Given the description of an element on the screen output the (x, y) to click on. 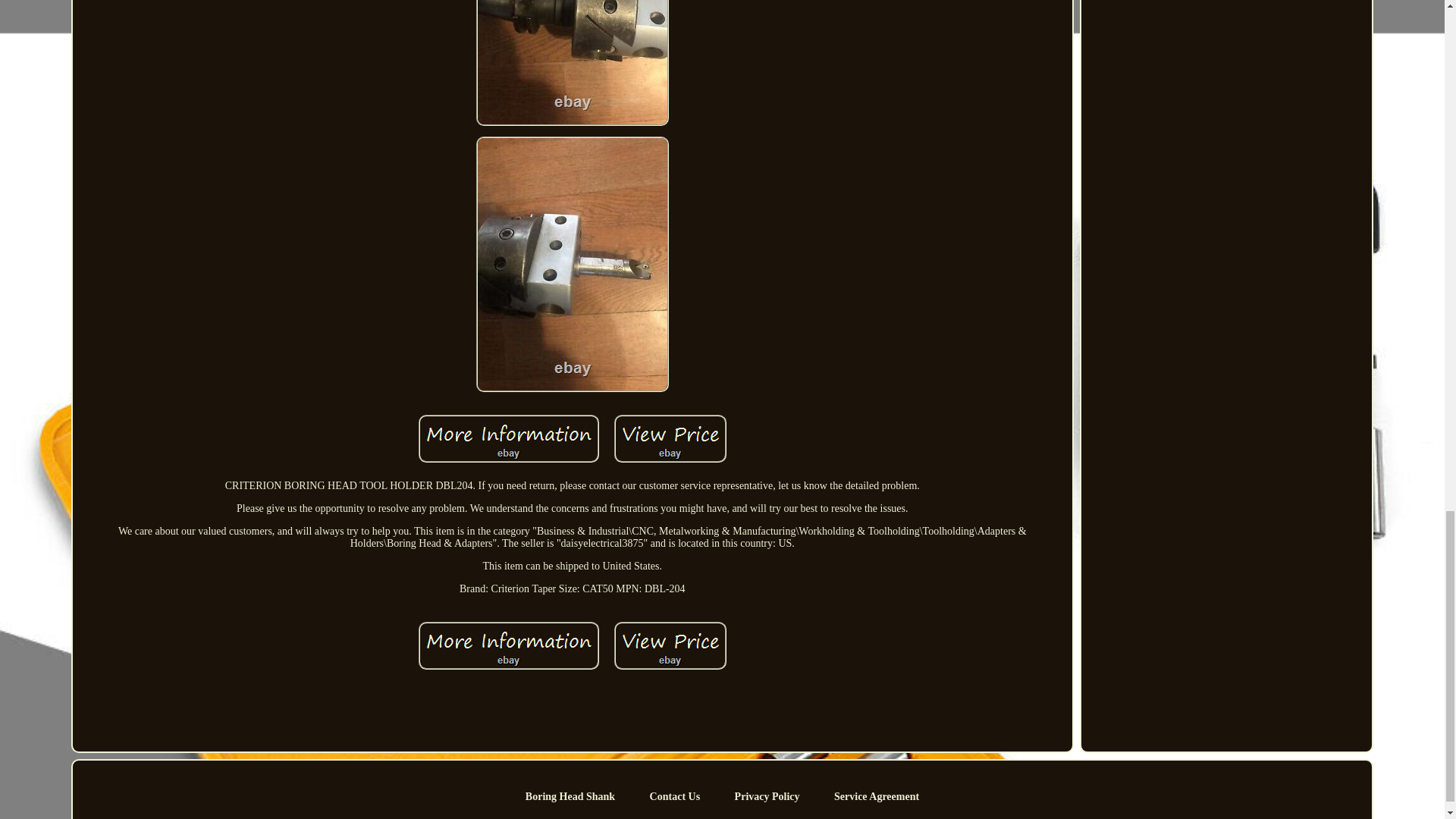
Criterion Boring Head Cat 50 Tool Holder Dbl204 (508, 438)
Criterion Boring Head Cat 50 Tool Holder Dbl204 (572, 63)
Criterion Boring Head Cat 50 Tool Holder Dbl204 (508, 645)
Criterion Boring Head Cat 50 Tool Holder Dbl204 (670, 438)
Criterion Boring Head Cat 50 Tool Holder Dbl204 (670, 645)
